Given the description of an element on the screen output the (x, y) to click on. 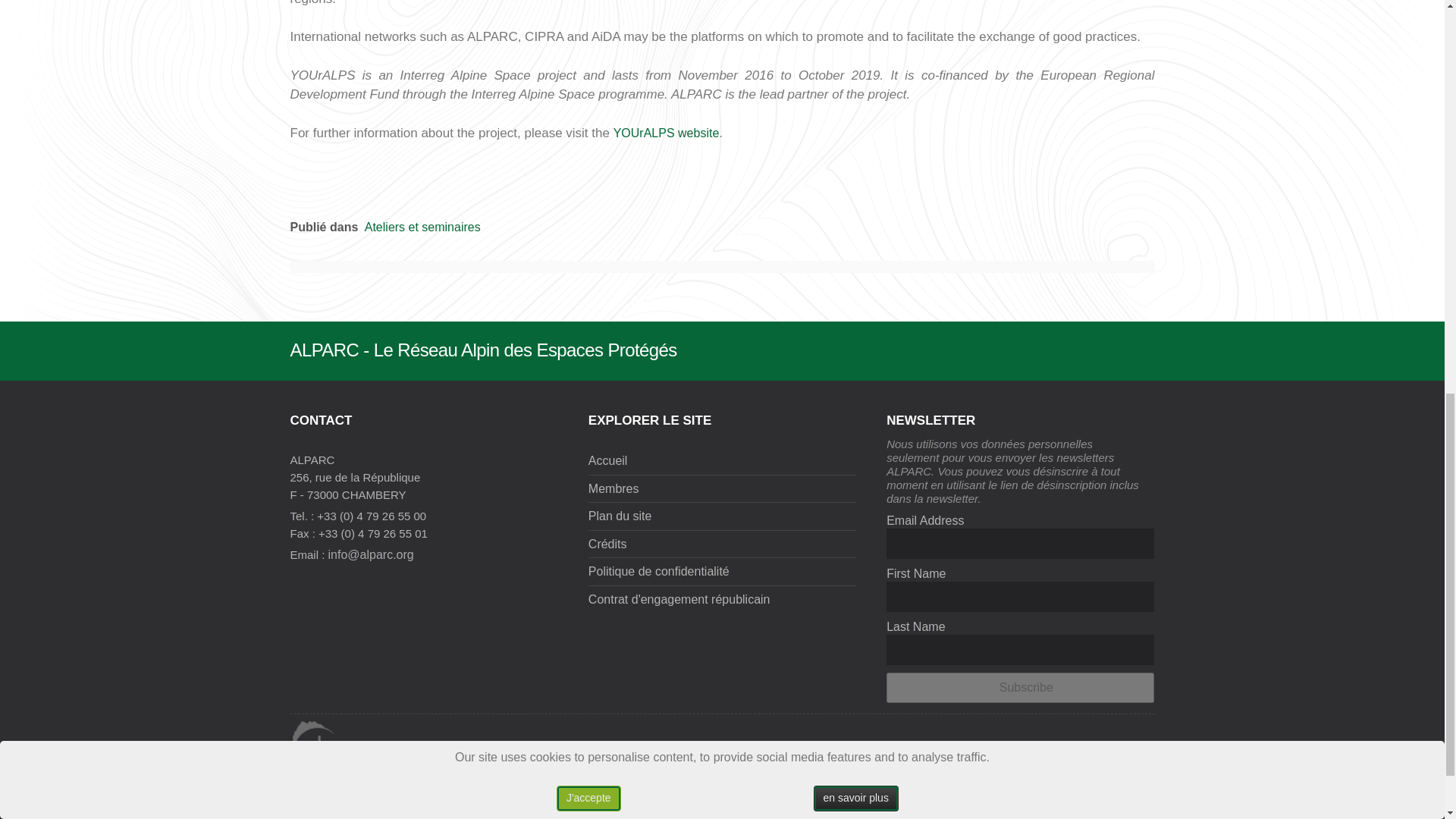
Calameo (1110, 747)
Youtube (1081, 747)
E-mail (1141, 747)
Subscribe (1020, 687)
Facebook (1051, 747)
